Given the description of an element on the screen output the (x, y) to click on. 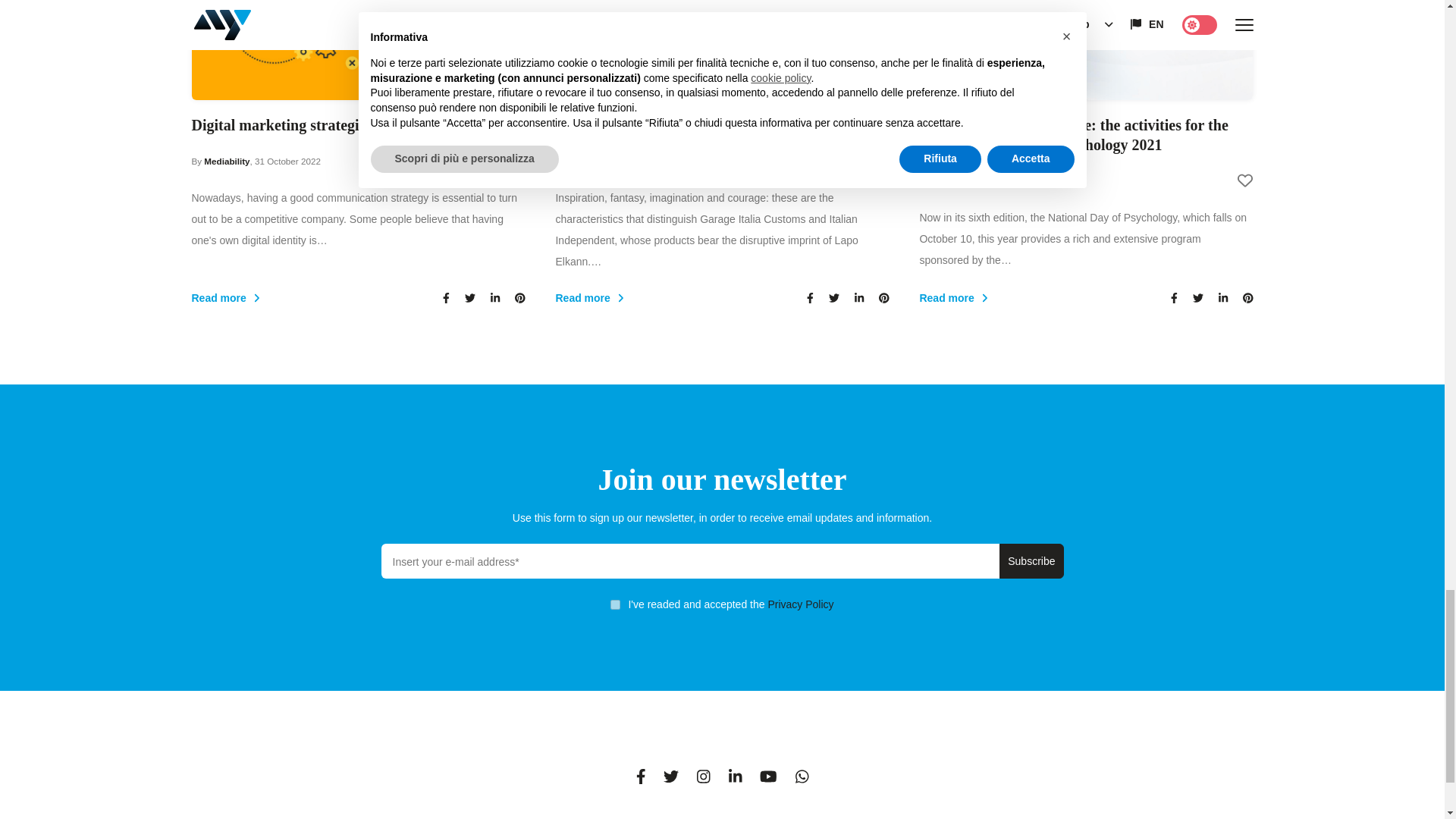
Digital marketing strategies to grow a business (357, 125)
Mediability (225, 161)
Read more (308, 298)
Mediability (589, 161)
on (615, 604)
Read more (672, 298)
Mediability (953, 180)
Garage Italia Customs and Italian Independent (721, 125)
Subscribe (1030, 560)
